Given the description of an element on the screen output the (x, y) to click on. 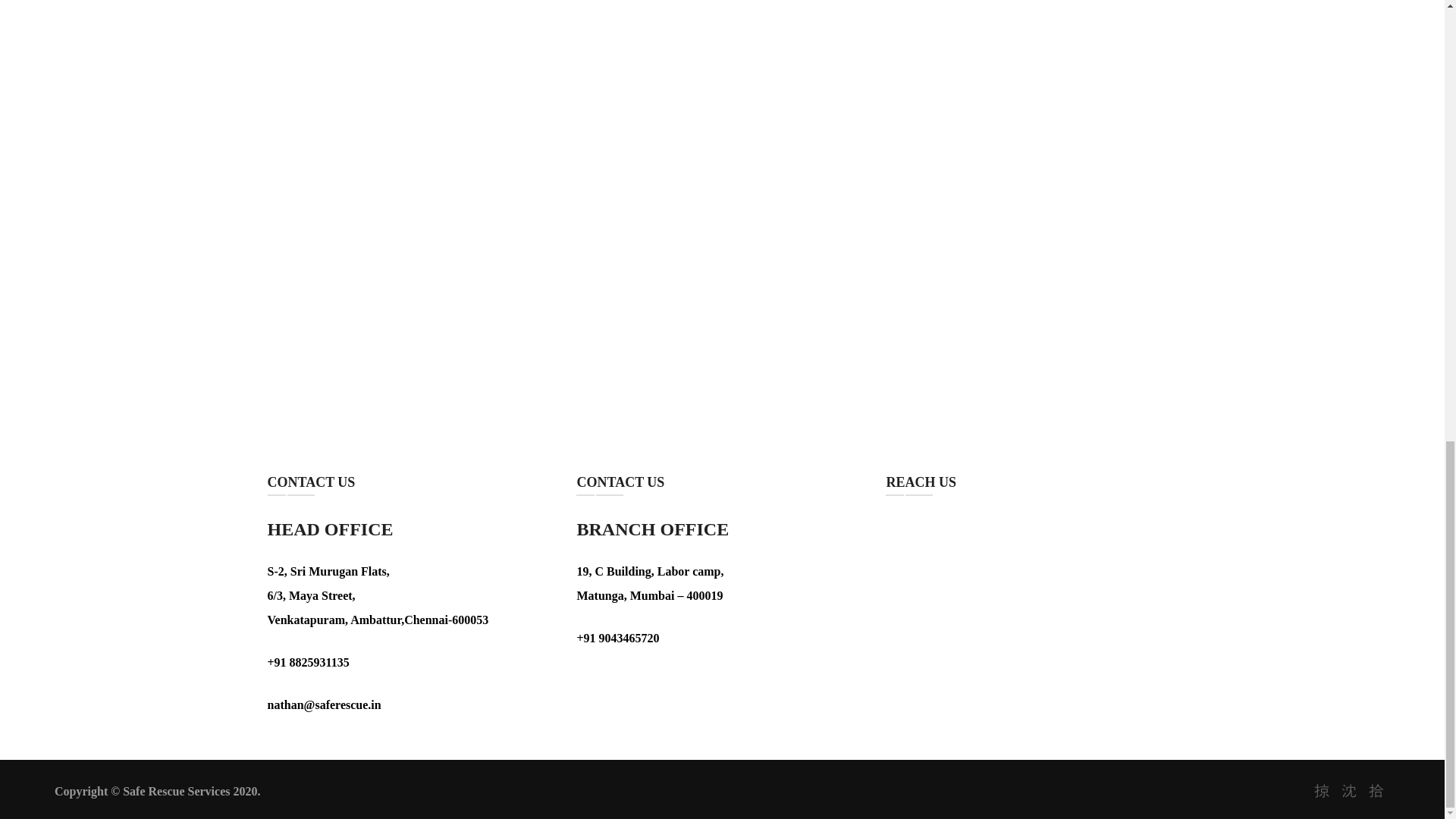
Submit comment (467, 355)
